Given the description of an element on the screen output the (x, y) to click on. 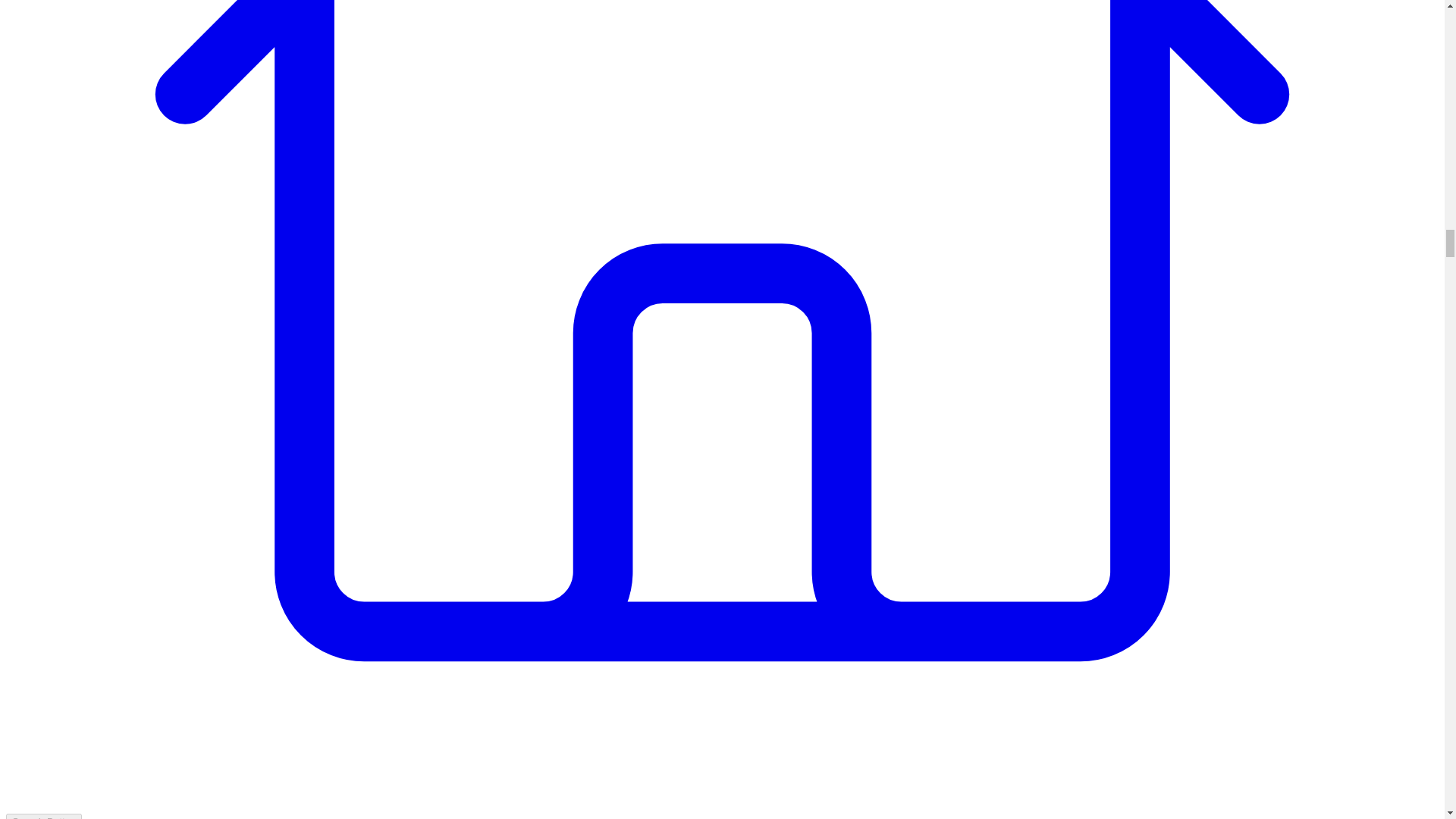
Search Button (43, 816)
